Given the description of an element on the screen output the (x, y) to click on. 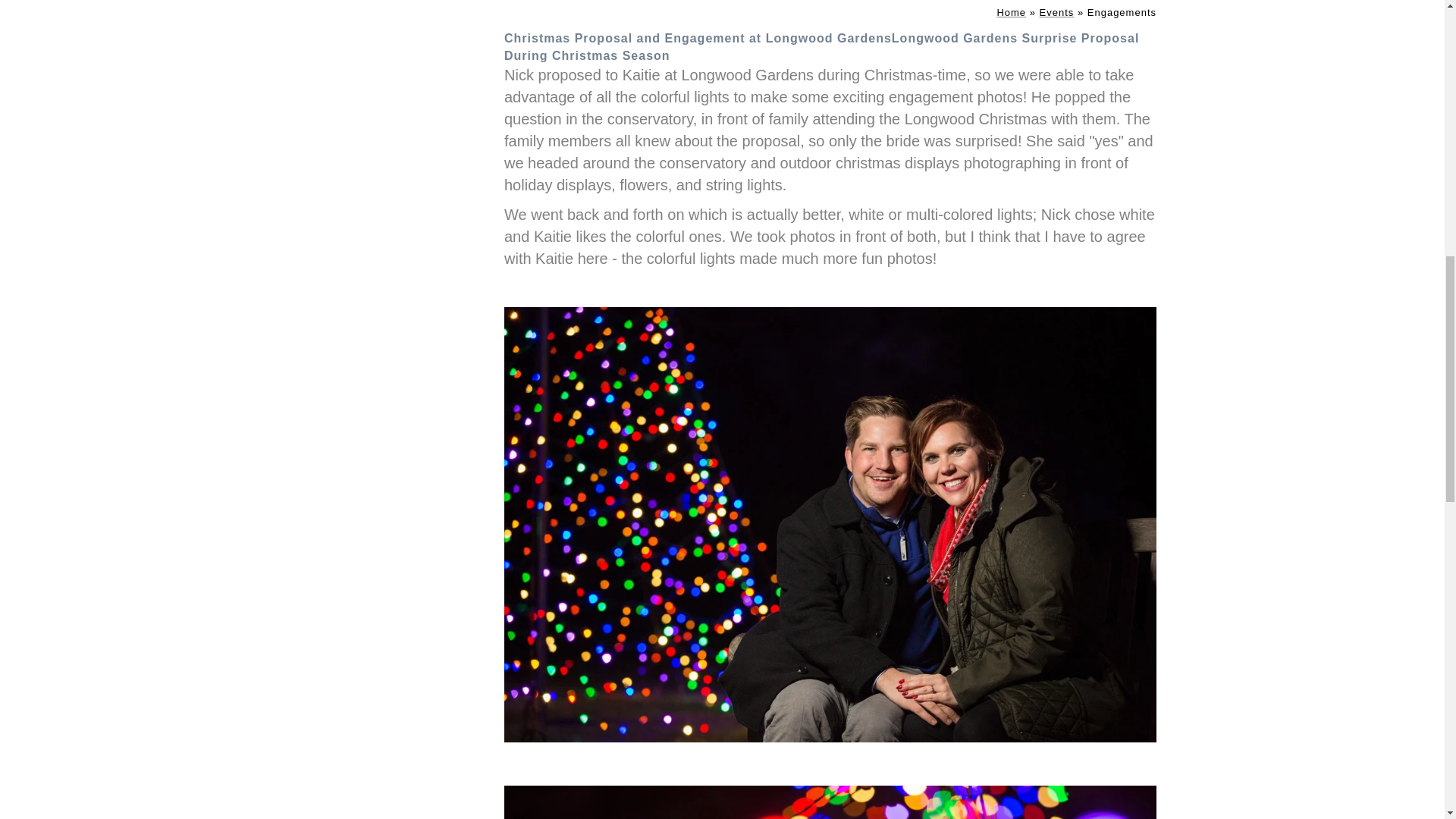
Home (1010, 12)
Chester County and Philadelphia Area Photographer (1010, 12)
Chester County and Philadelphia Event Photographer (1056, 12)
Christmas Proposal and Engagement Session (829, 802)
